Given the description of an element on the screen output the (x, y) to click on. 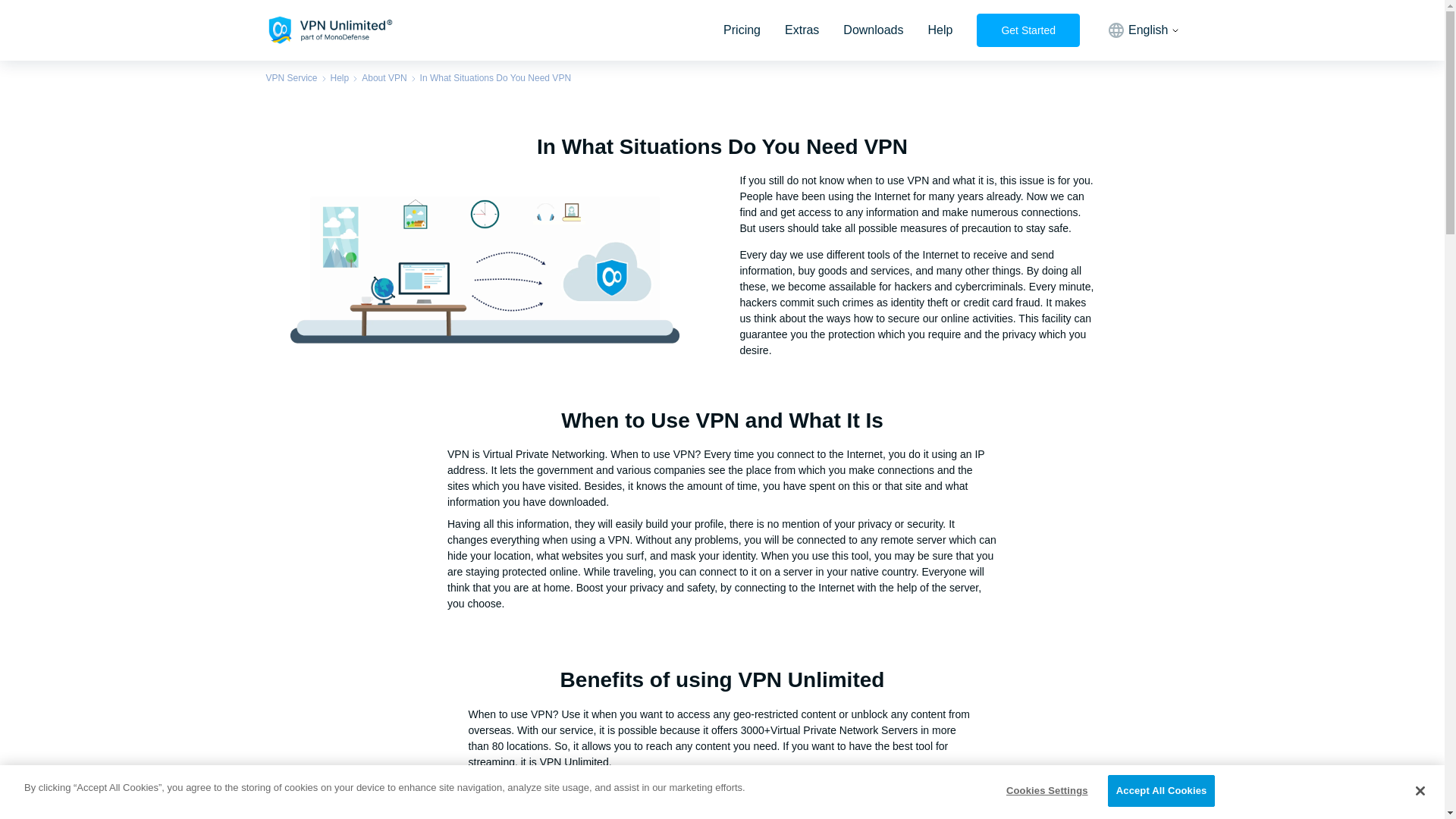
Help (940, 29)
Pricing (741, 29)
Downloads (872, 29)
Extras (801, 29)
